Given the description of an element on the screen output the (x, y) to click on. 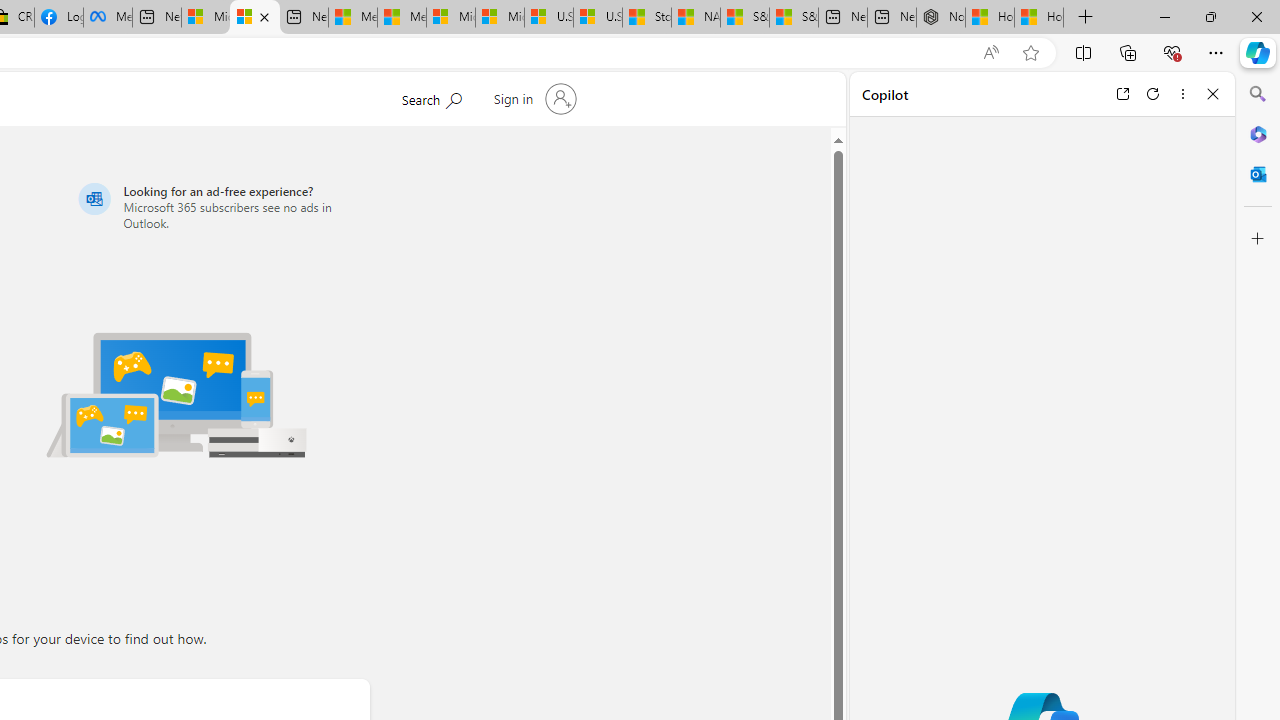
Outlook (1258, 174)
Open link in new tab (1122, 93)
New tab (891, 17)
